Given the description of an element on the screen output the (x, y) to click on. 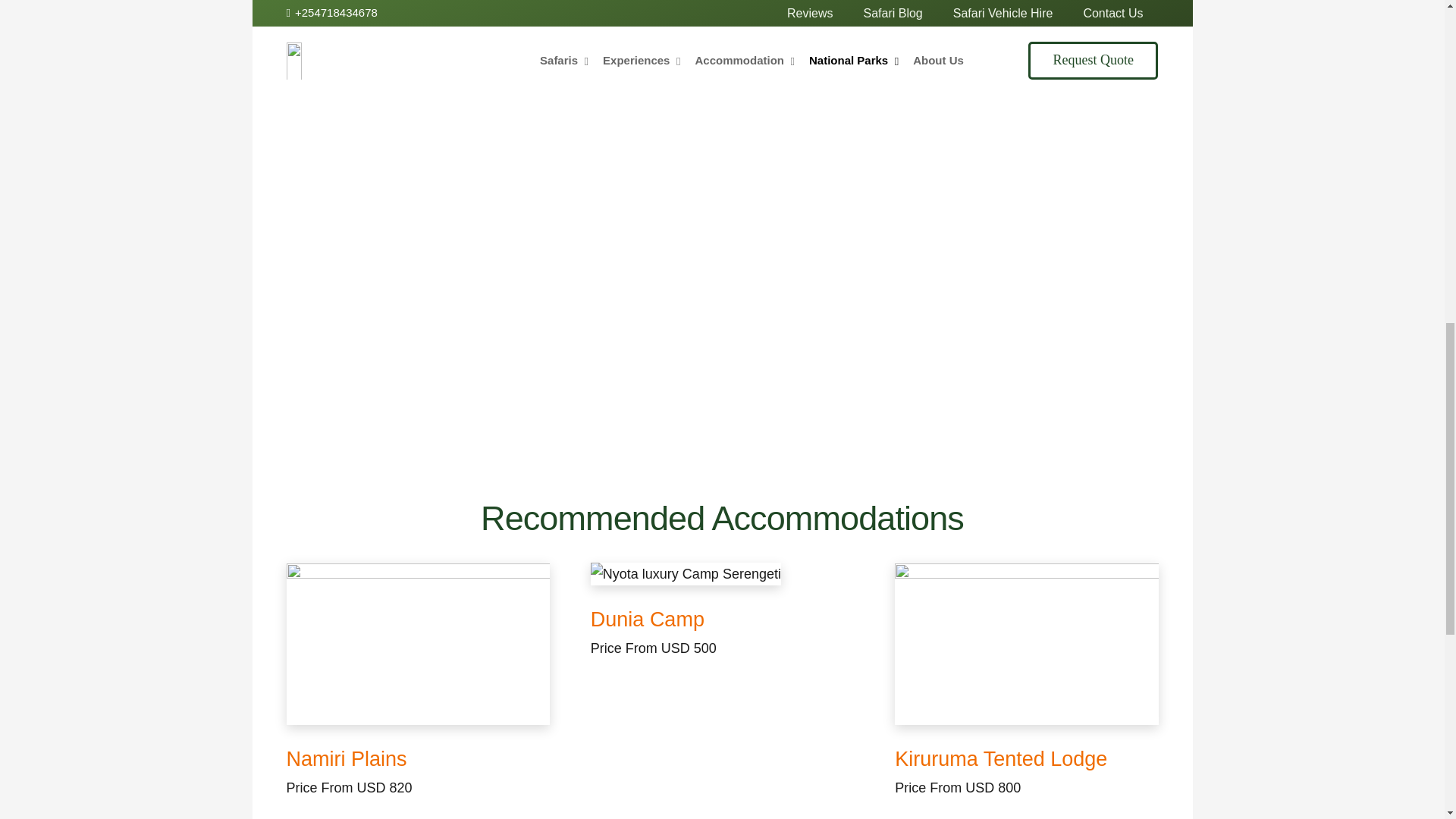
Kirurumu Tented Lodge (1000, 758)
Kirurumu Tented Lodge (1026, 643)
Namiri Plains (346, 758)
Dunia Camp (647, 619)
Namiri Plains (418, 643)
Dunia Camp (722, 573)
